Given the description of an element on the screen output the (x, y) to click on. 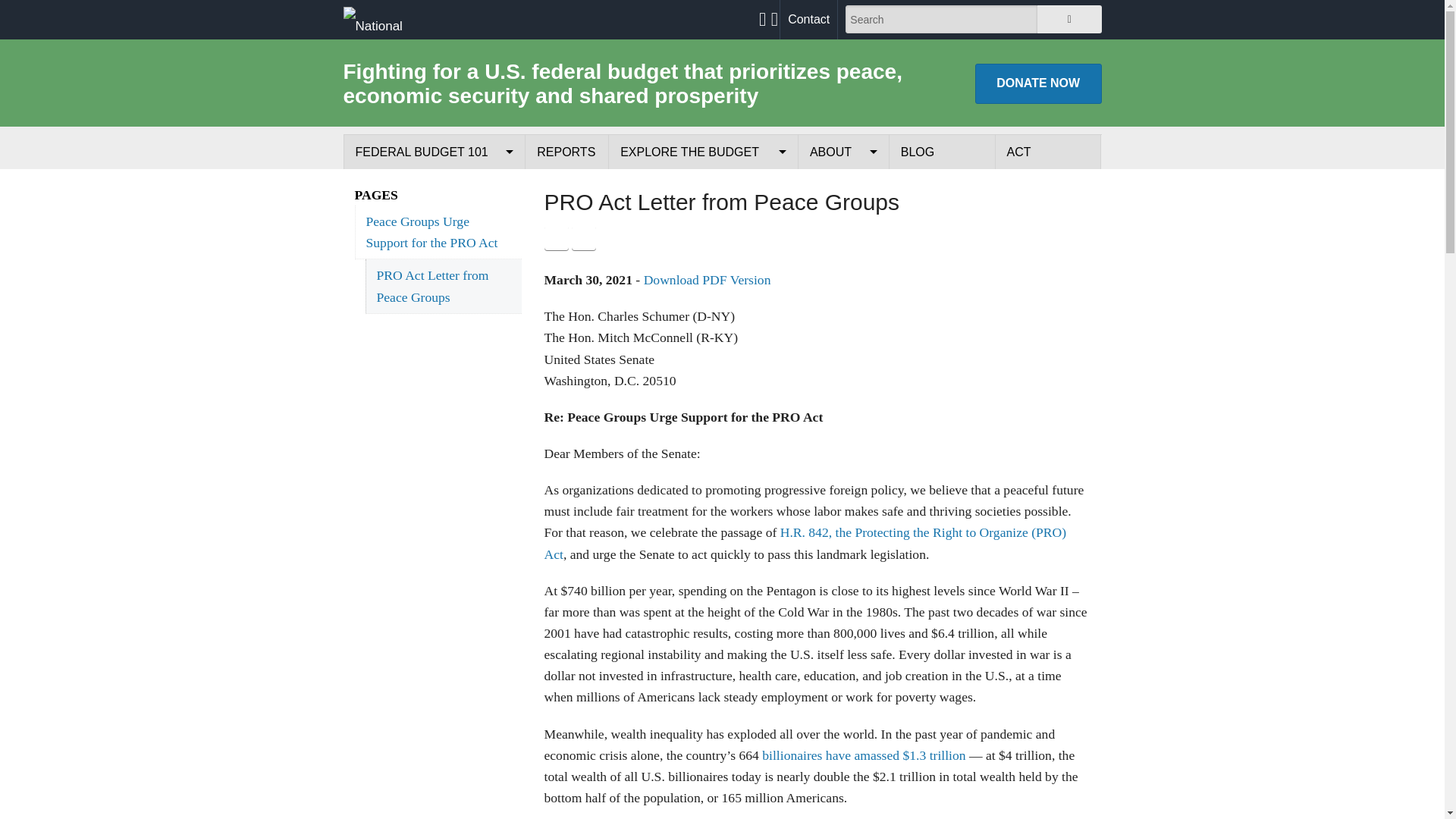
PRO Act Letter from Peace Groups (443, 285)
FEDERAL BUDGET 101 (434, 151)
ACT (1047, 151)
EXPLORE THE BUDGET (702, 151)
National Priorities Project (390, 19)
Where the Money Comes From (433, 221)
Where the Money Goes (433, 256)
REPORTS (566, 151)
SEARCH (1068, 18)
Peace Groups Urge Support for the PRO Act (438, 232)
Federal Budget Process (433, 186)
BLOG (941, 151)
Mission (843, 186)
Trade-Offs (703, 221)
Employment (843, 291)
